Given the description of an element on the screen output the (x, y) to click on. 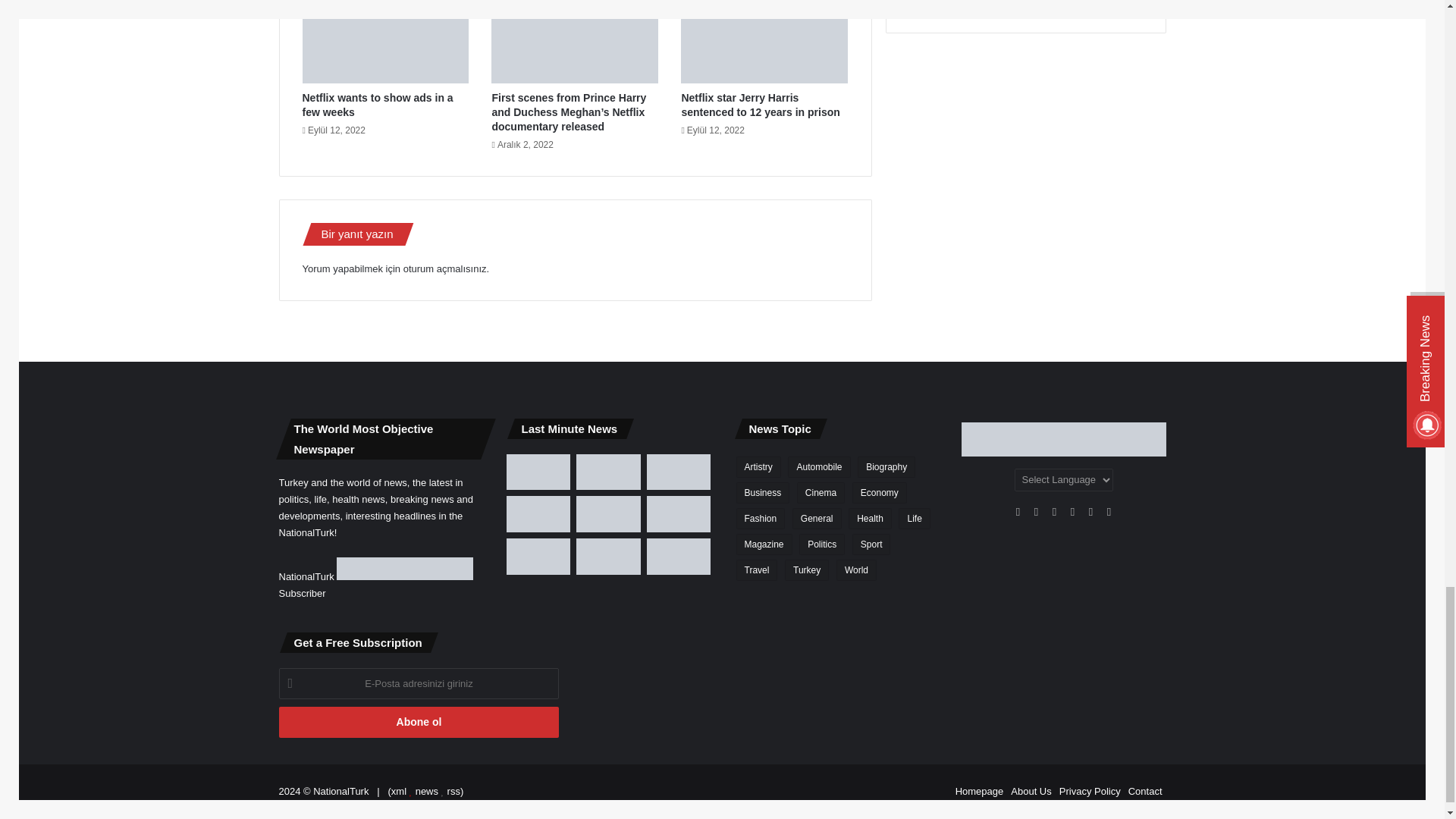
Automobile News (818, 466)
Artistry News (757, 466)
Biography News (886, 466)
Abone ol (419, 721)
